Given the description of an element on the screen output the (x, y) to click on. 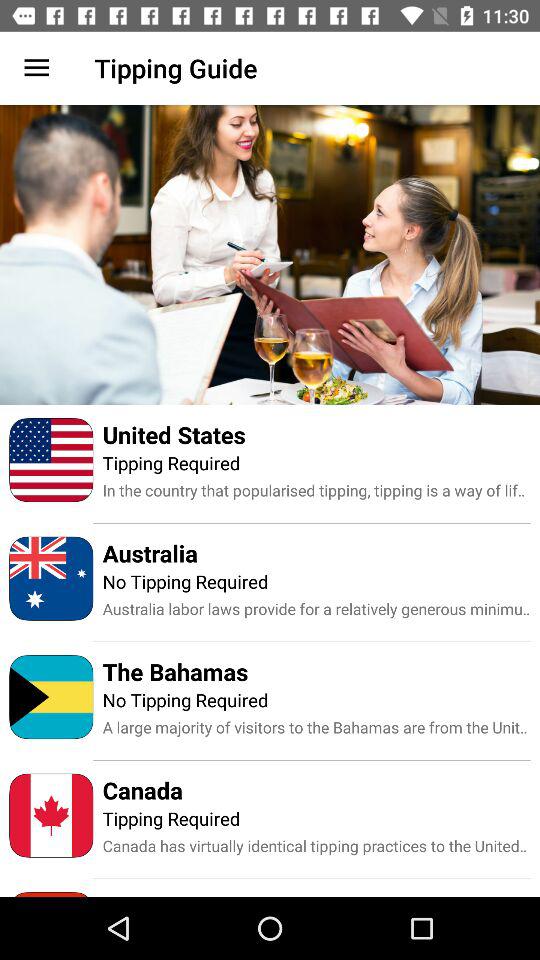
select the icon next to tipping guide item (36, 68)
